Given the description of an element on the screen output the (x, y) to click on. 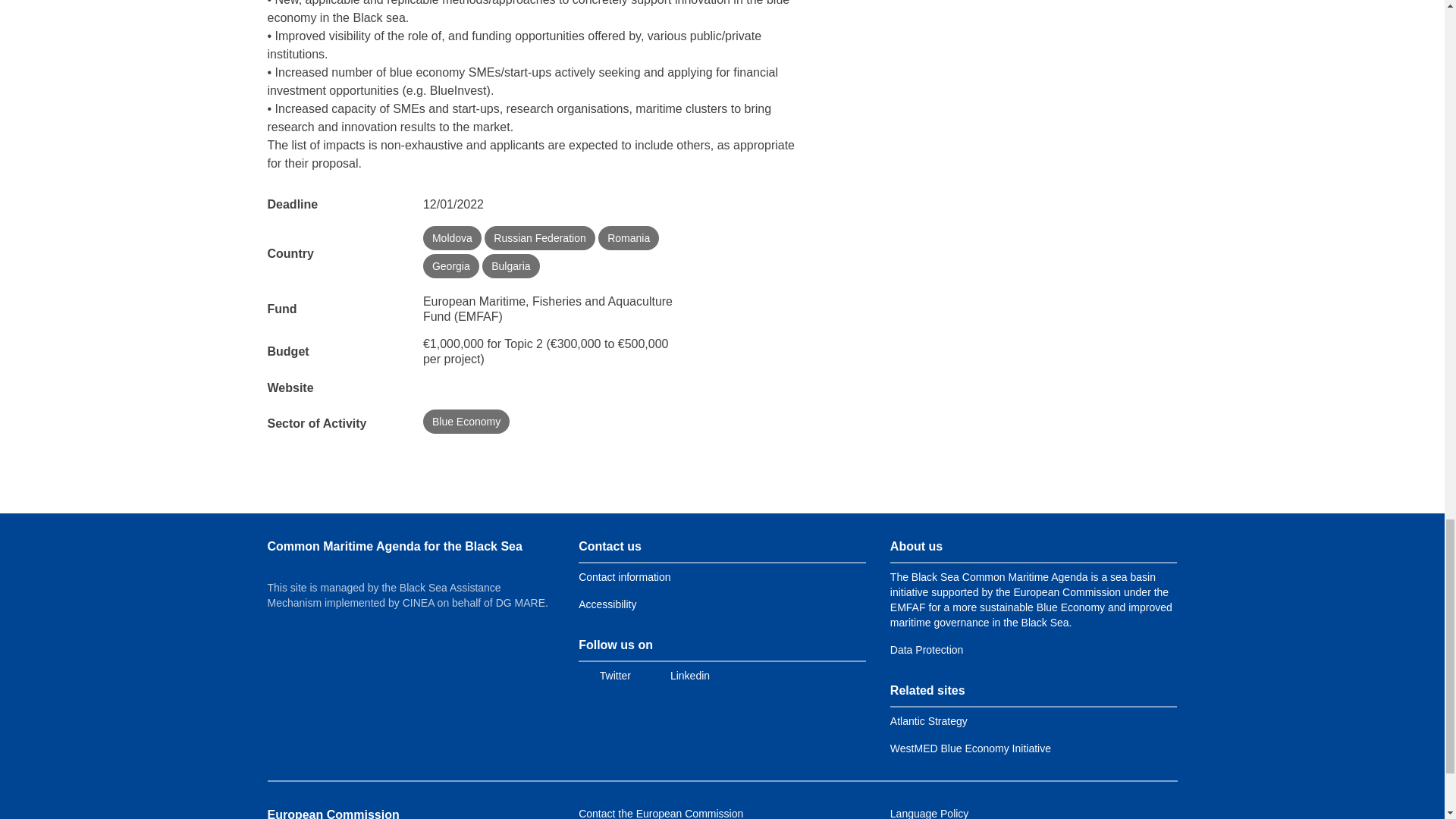
Linkedin (679, 675)
Twitter (604, 675)
Common Maritime Agenda for the Black Sea (393, 545)
Contact information (623, 576)
Accessibility (607, 604)
